Given the description of an element on the screen output the (x, y) to click on. 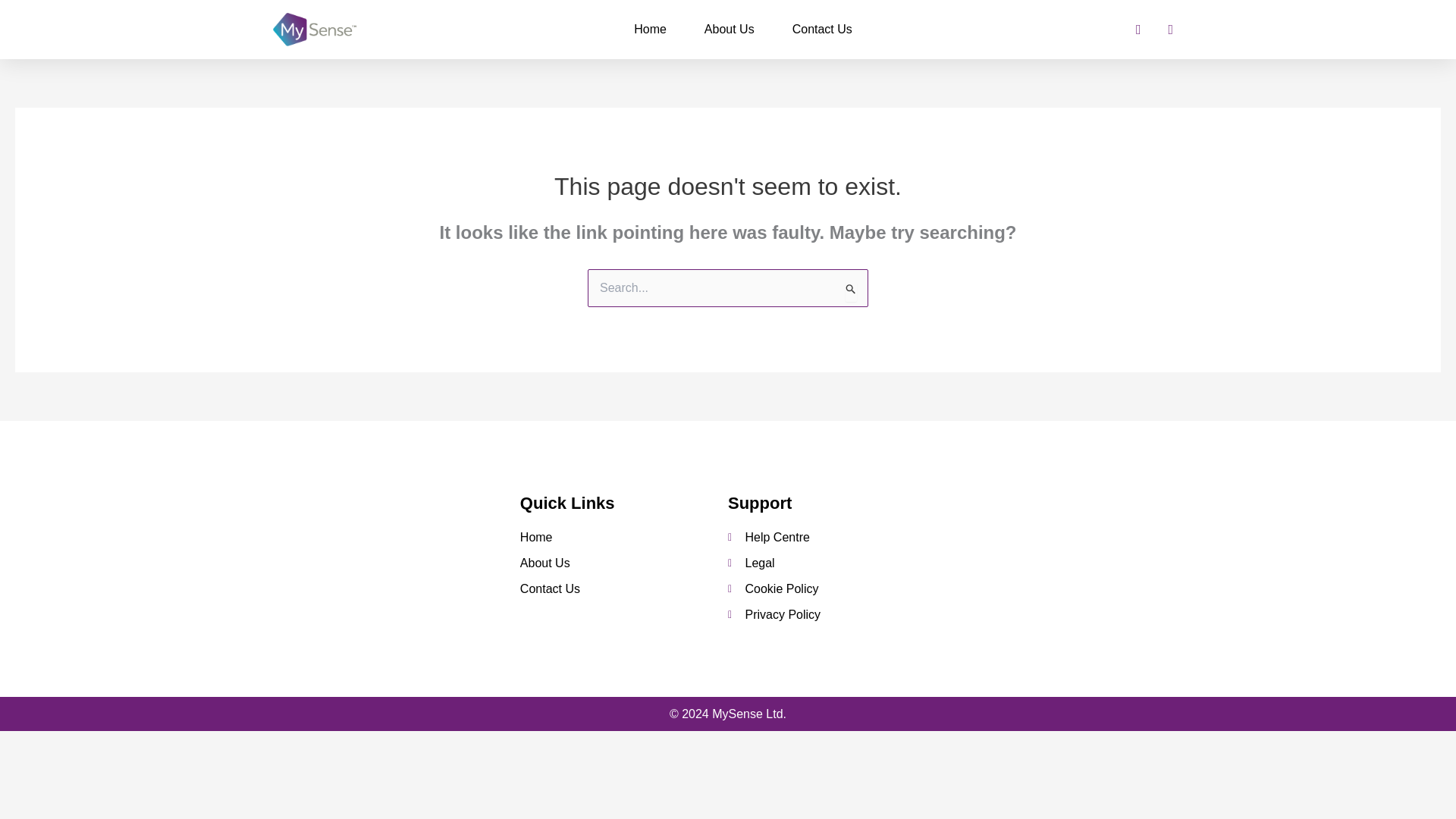
Home (649, 29)
About Us (623, 563)
Help Centre (774, 537)
About Us (729, 29)
Contact Us (821, 29)
Privacy Policy (774, 615)
Cookie Policy (774, 588)
Legal (774, 563)
Contact Us (623, 588)
Home (623, 537)
